Given the description of an element on the screen output the (x, y) to click on. 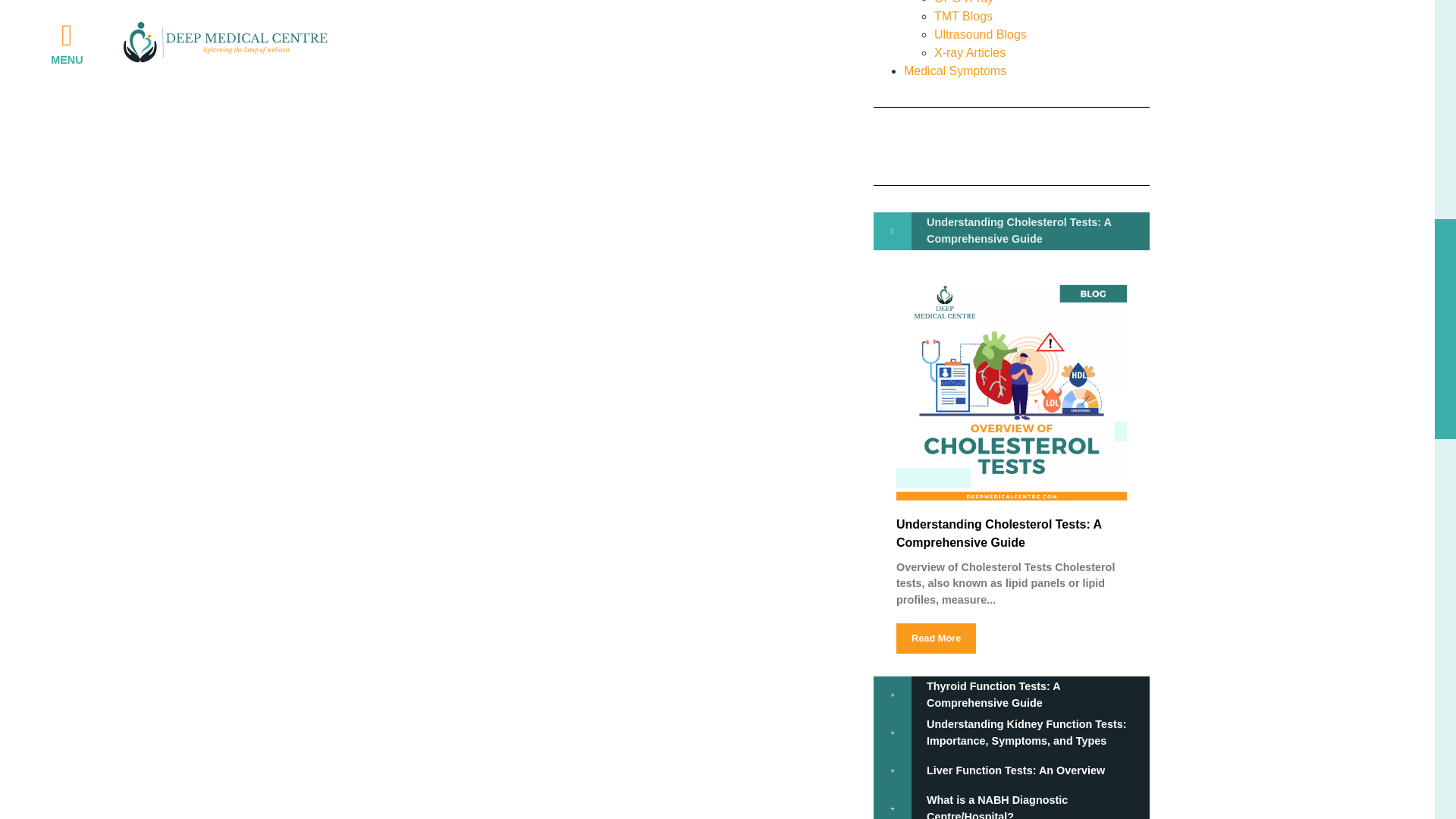
X-ray Articles (970, 51)
Ultrasound Blogs (980, 33)
OPG X-ray (963, 2)
TMT Blogs (963, 15)
